Given the description of an element on the screen output the (x, y) to click on. 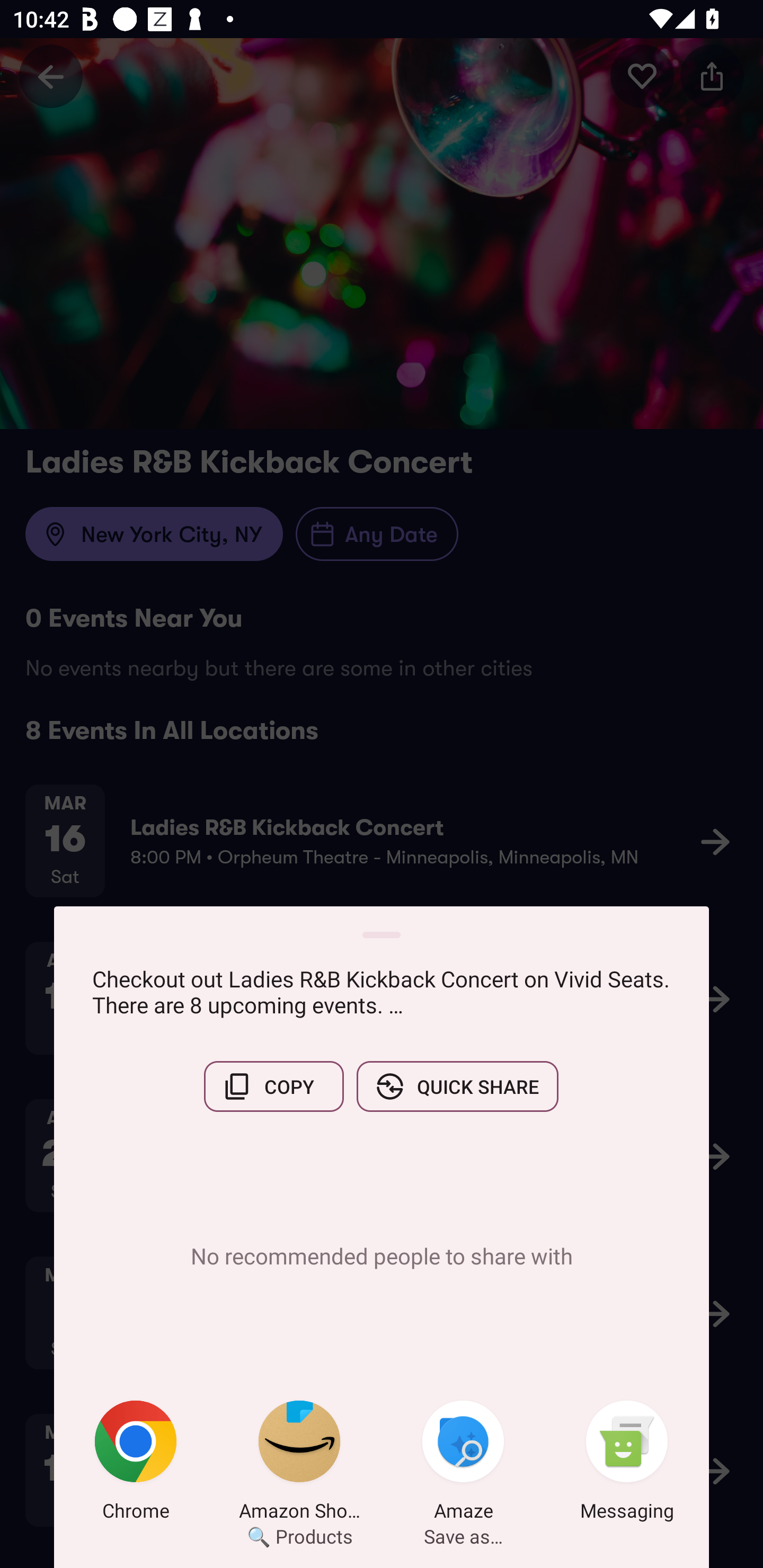
COPY (273, 1086)
QUICK SHARE (457, 1086)
Chrome (135, 1463)
Amazon Shopping 🔍 Products (299, 1463)
Amaze Save as… (463, 1463)
Messaging (626, 1463)
